Given the description of an element on the screen output the (x, y) to click on. 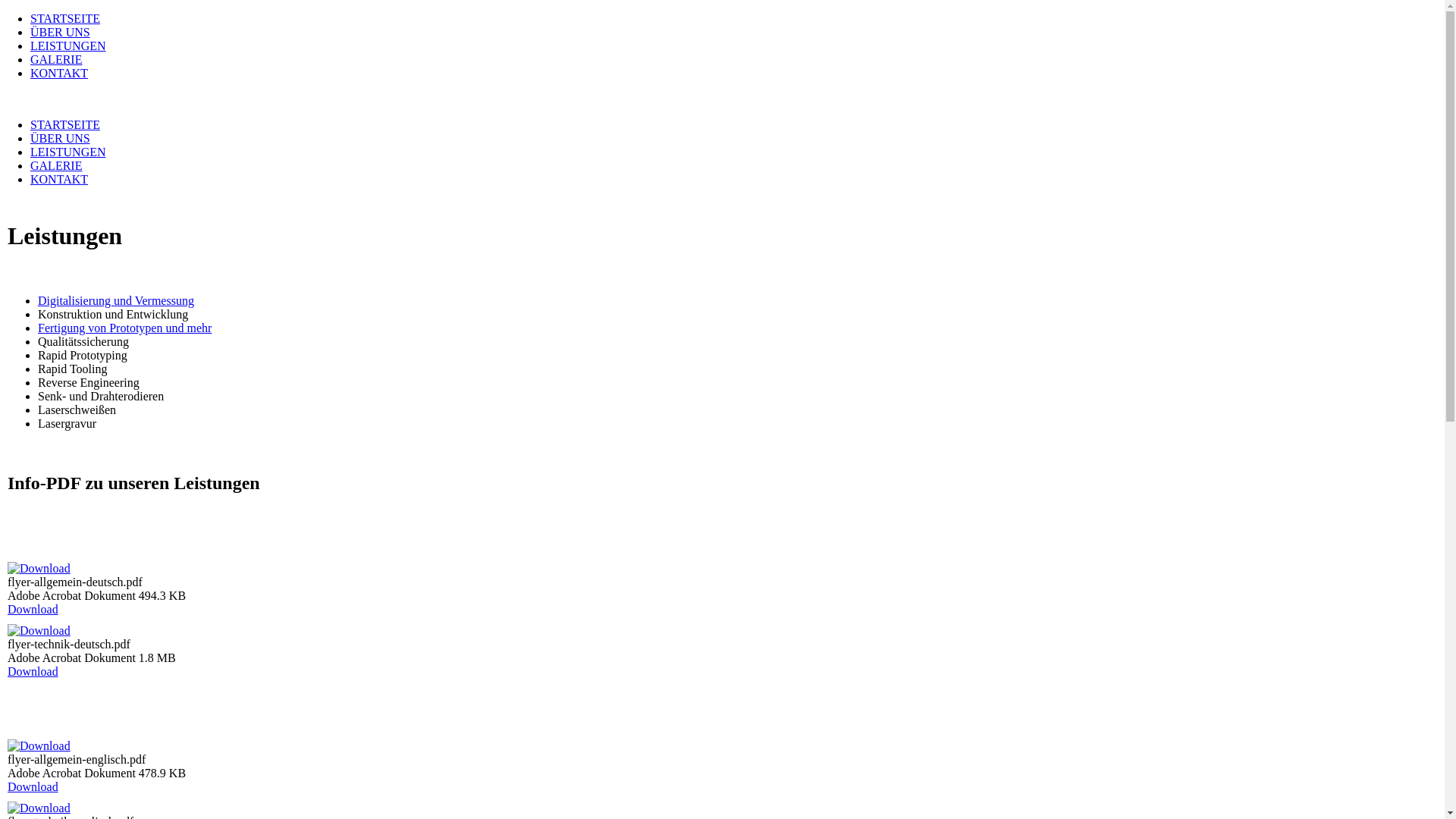
Download Element type: text (32, 786)
Download Element type: text (32, 608)
Fertigung von Prototypen und mehr Element type: text (124, 327)
LEISTUNGEN Element type: text (68, 151)
Download Element type: text (32, 671)
KONTAKT Element type: text (58, 178)
Digitalisierung und Vermessung Element type: text (115, 300)
KONTAKT Element type: text (58, 72)
LEISTUNGEN Element type: text (68, 45)
GALERIE Element type: text (55, 59)
GALERIE Element type: text (55, 165)
STARTSEITE Element type: text (65, 18)
STARTSEITE Element type: text (65, 124)
